Given the description of an element on the screen output the (x, y) to click on. 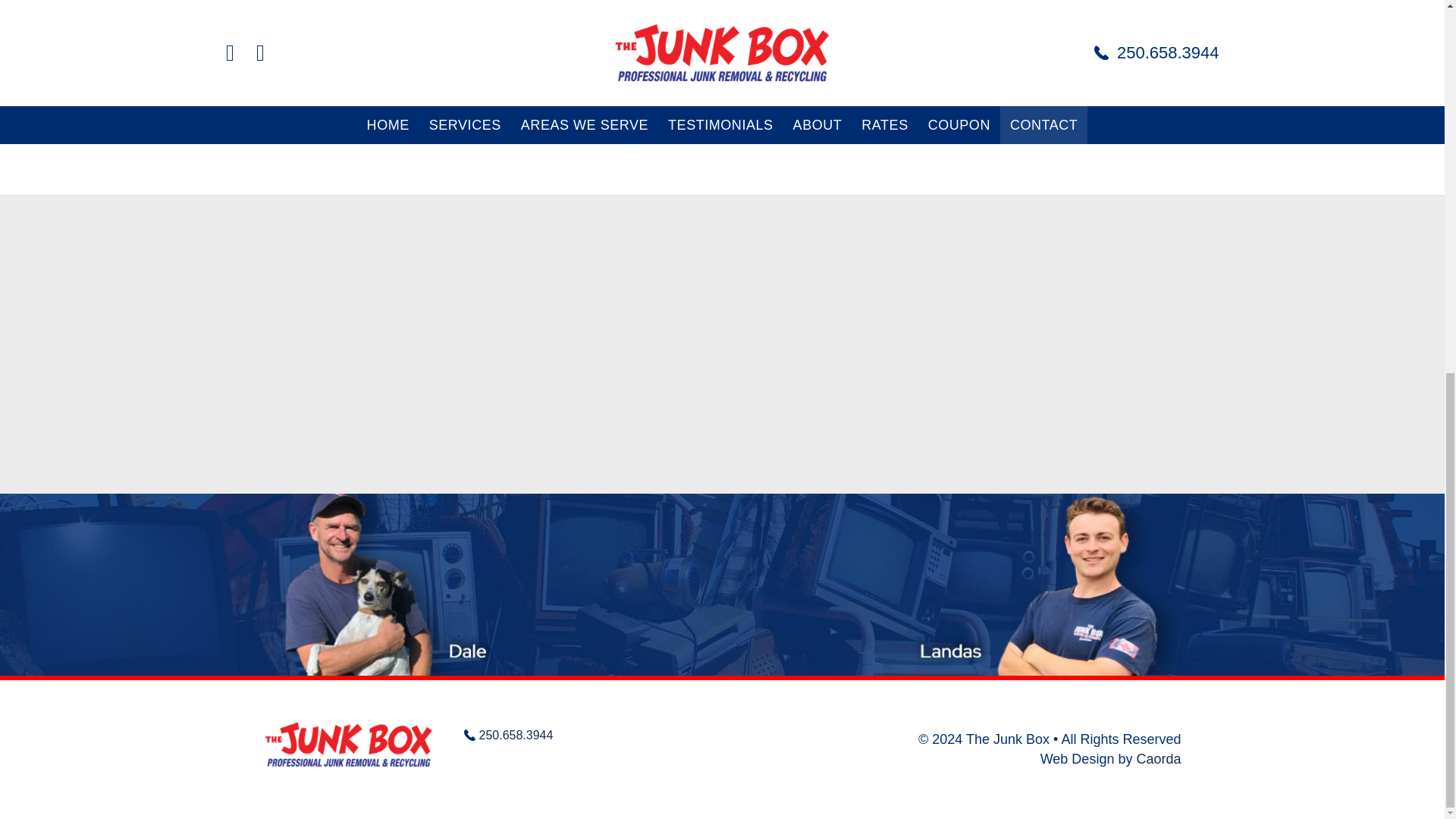
Request Call Back (330, 88)
map-south-vancouver-island-regions-v3 (960, 6)
250.658.3944 (508, 735)
Request Call Back (330, 88)
Caorda (1157, 758)
